Given the description of an element on the screen output the (x, y) to click on. 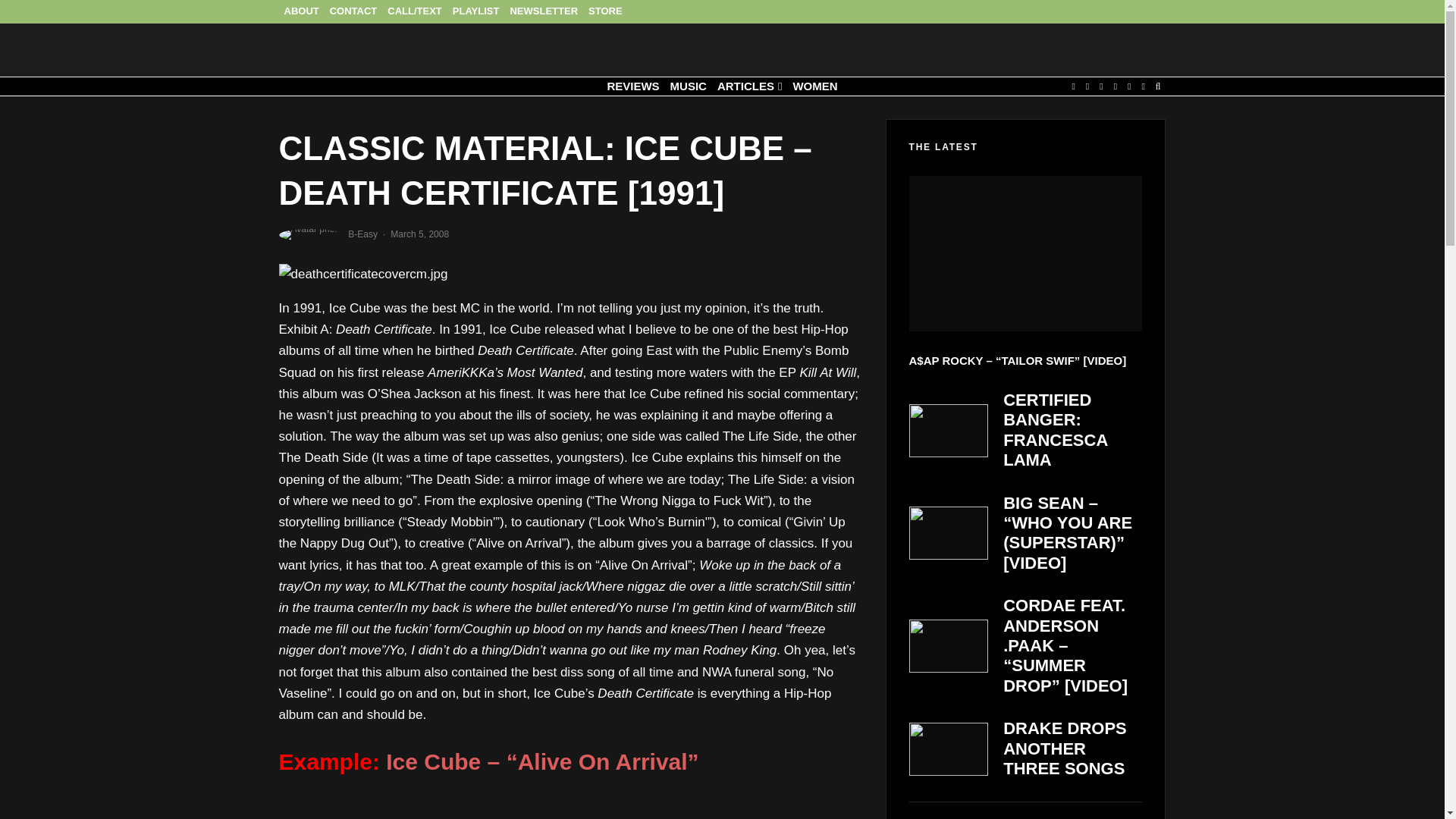
NEWSLETTER (543, 11)
Posts by B-Easy (362, 234)
MUSIC (688, 86)
ARTICLES (749, 86)
ABOUT (301, 11)
STORE (605, 11)
REVIEWS (632, 86)
PLAYLIST (475, 11)
CONTACT (353, 11)
